Given the description of an element on the screen output the (x, y) to click on. 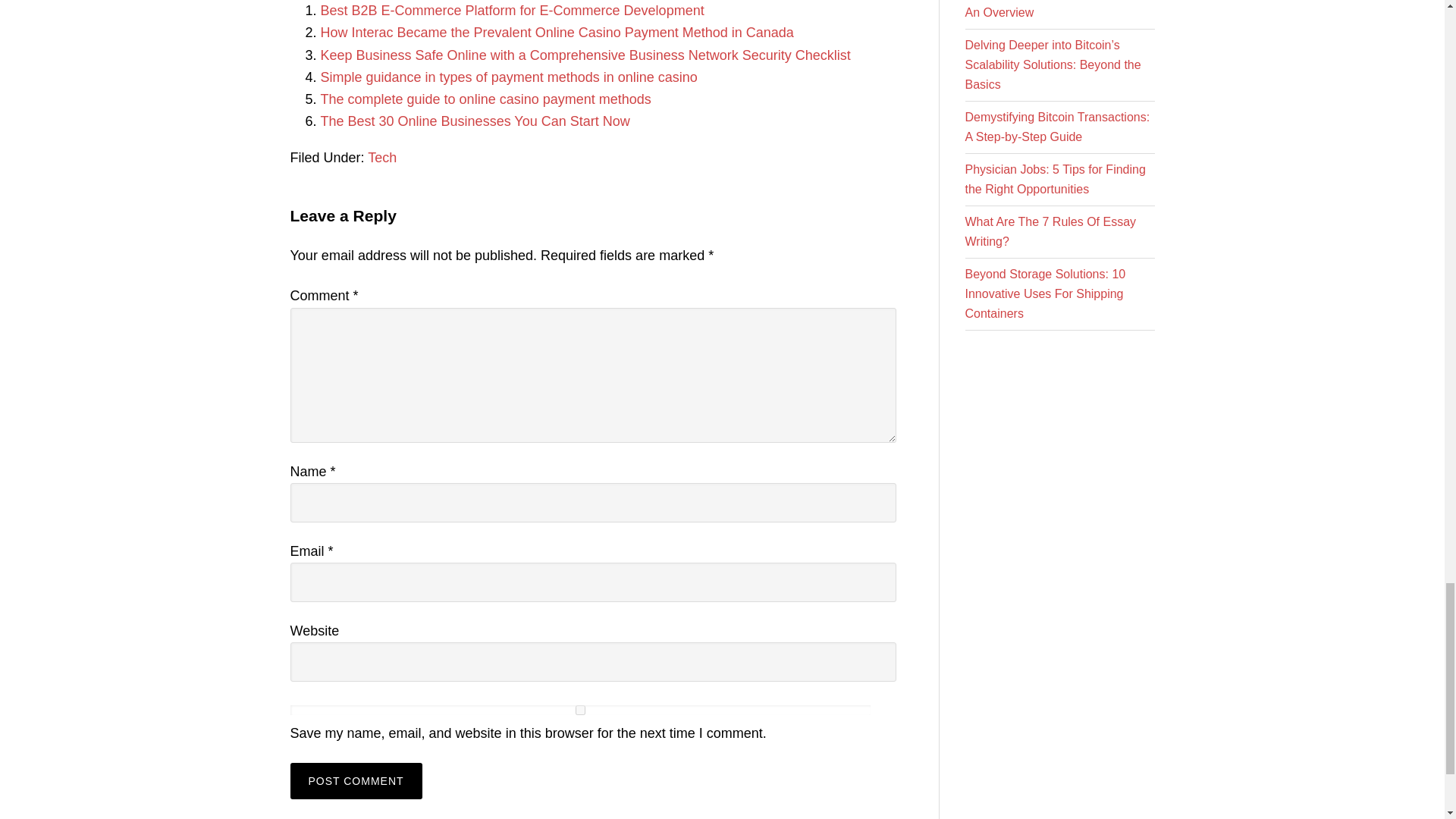
Post Comment (355, 780)
Post Comment (355, 780)
Tech (382, 157)
The complete guide to online casino payment methods (485, 99)
Best B2B E-Commerce Platform for E-Commerce Development (511, 10)
The complete guide to online casino payment methods (485, 99)
